Given the description of an element on the screen output the (x, y) to click on. 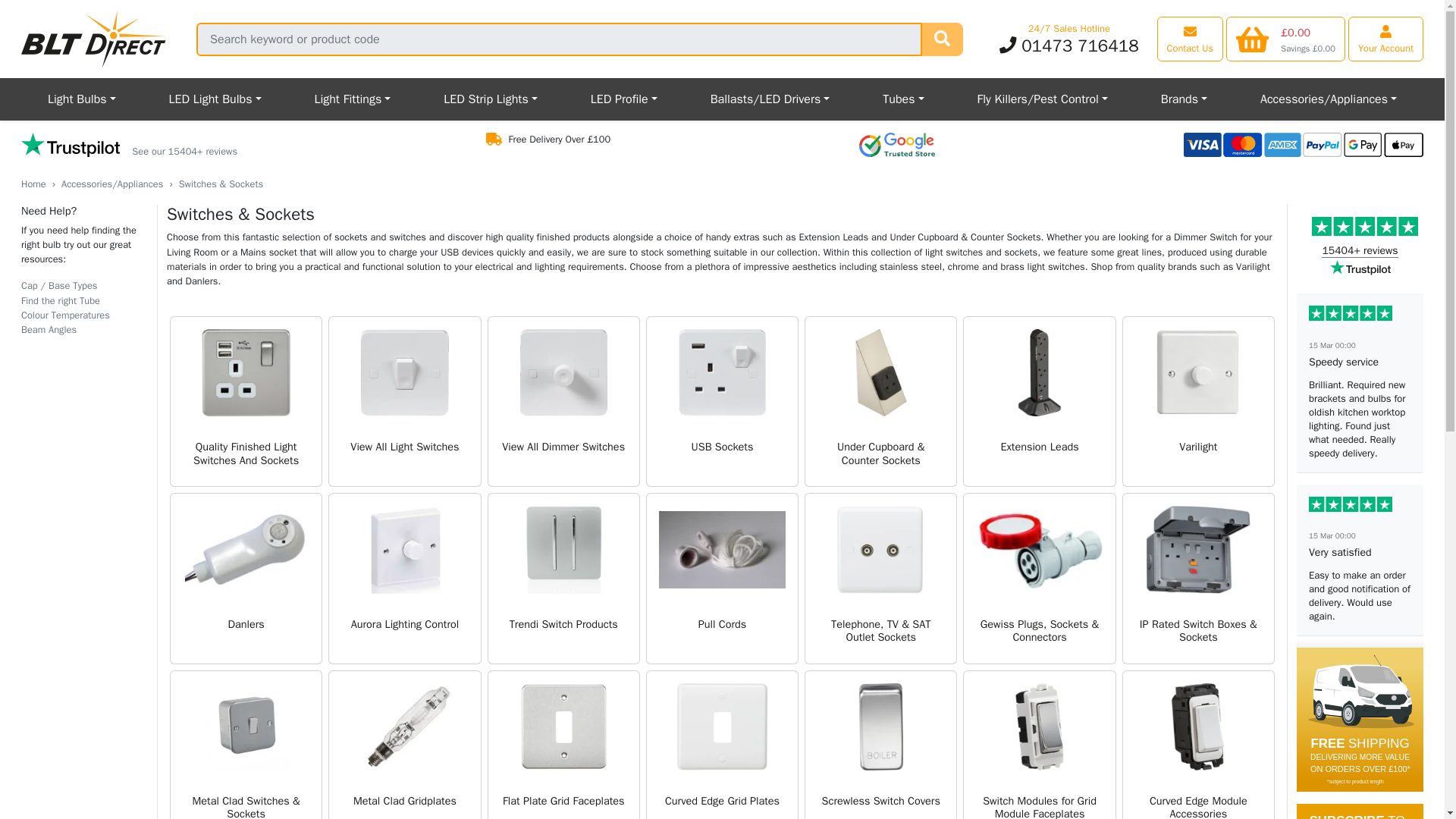
LED Profile (624, 99)
LED Strip Lights (489, 99)
Brands (1183, 99)
Light Bulbs (81, 99)
Colour Temperatures (65, 315)
LED Strip Lights (489, 99)
Quality Finished Light Switches And Sockets (245, 401)
Light Bulbs (81, 99)
Fluorescent Tube Finder (60, 300)
Contact Us (1190, 38)
